Given the description of an element on the screen output the (x, y) to click on. 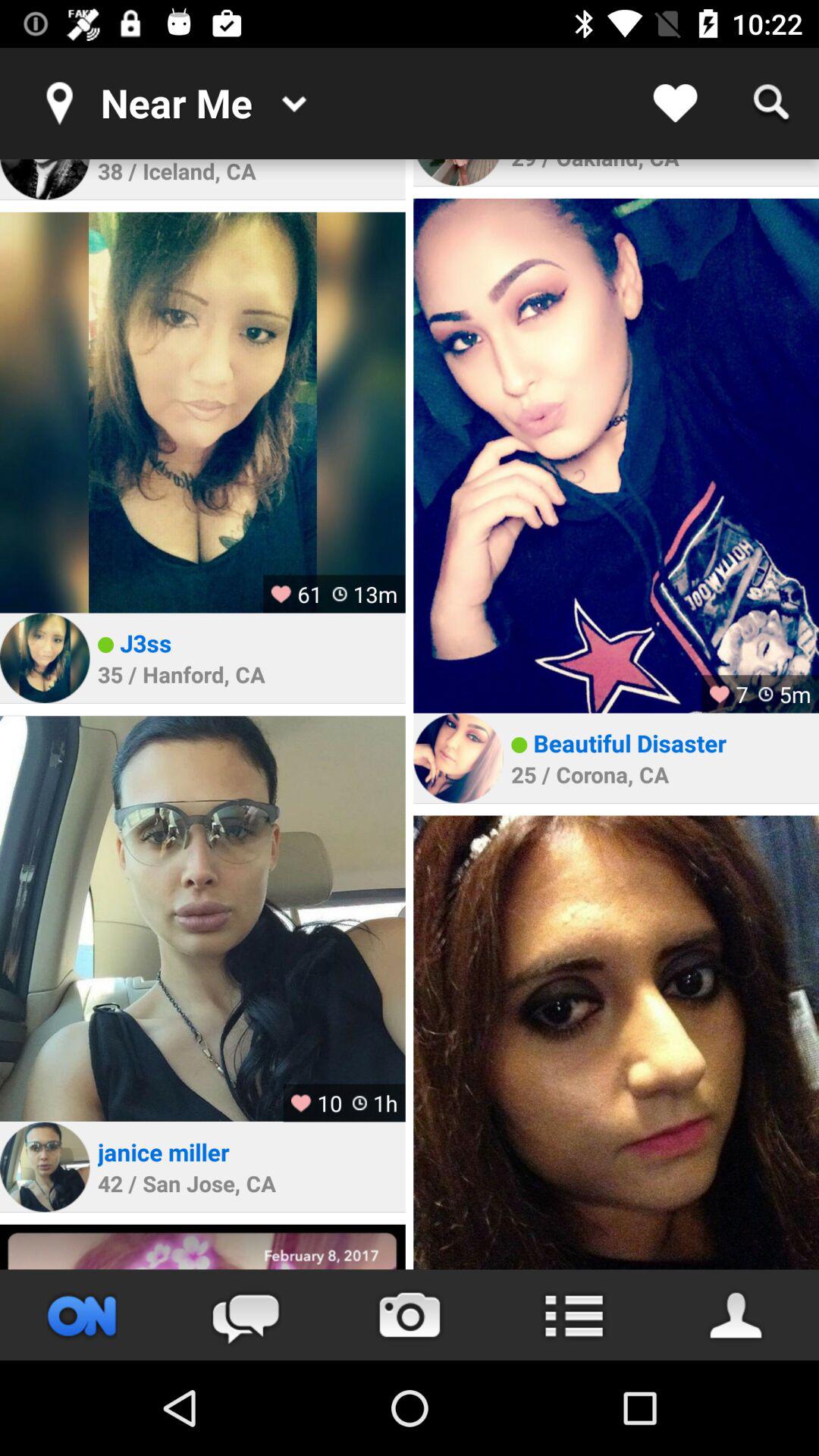
view picture (202, 1246)
